Given the description of an element on the screen output the (x, y) to click on. 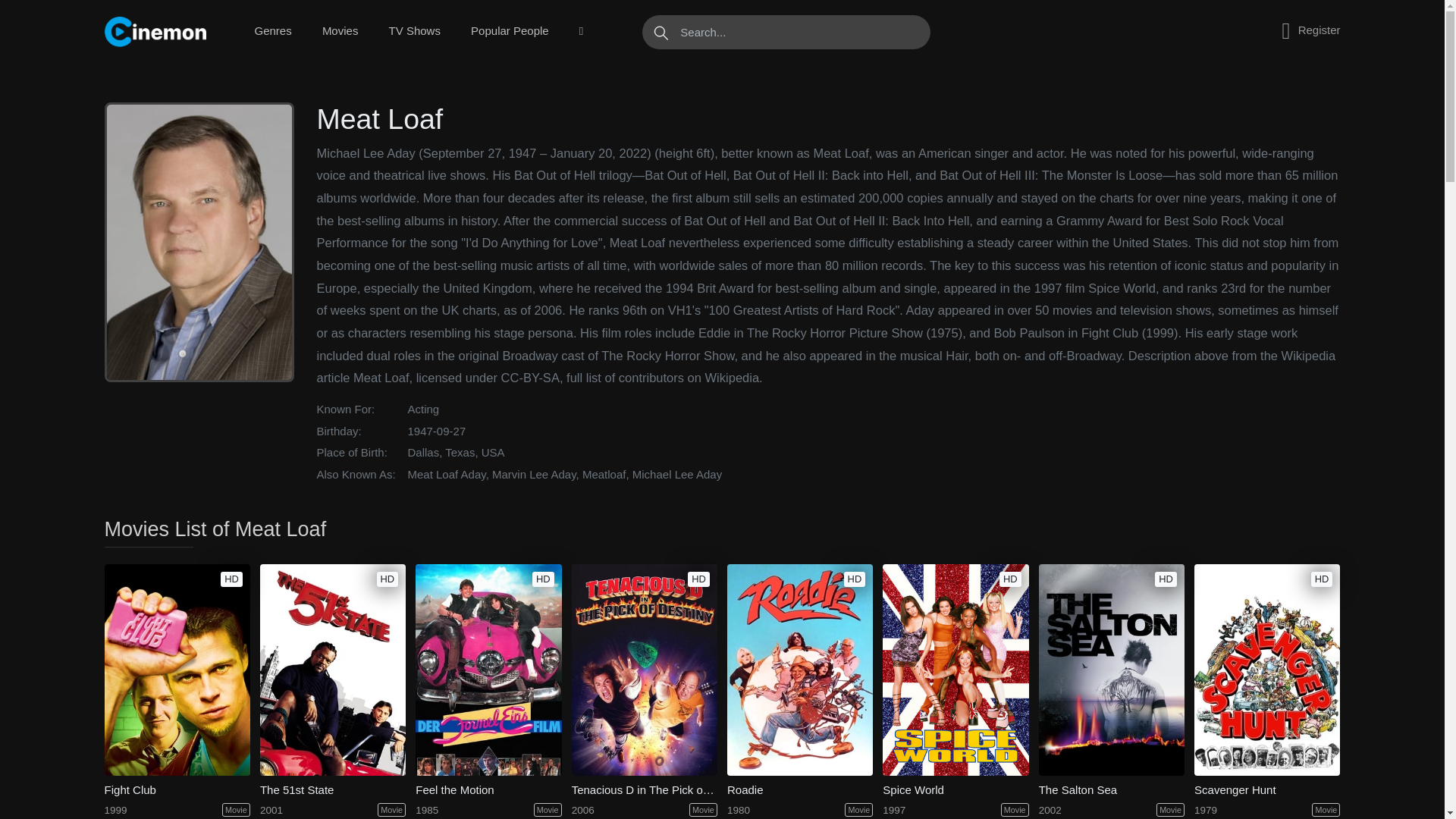
Movies (340, 31)
Genres (273, 31)
Watch Movies Online Free (157, 31)
Movies (340, 31)
TV Shows (414, 31)
Popular People (509, 31)
